Given the description of an element on the screen output the (x, y) to click on. 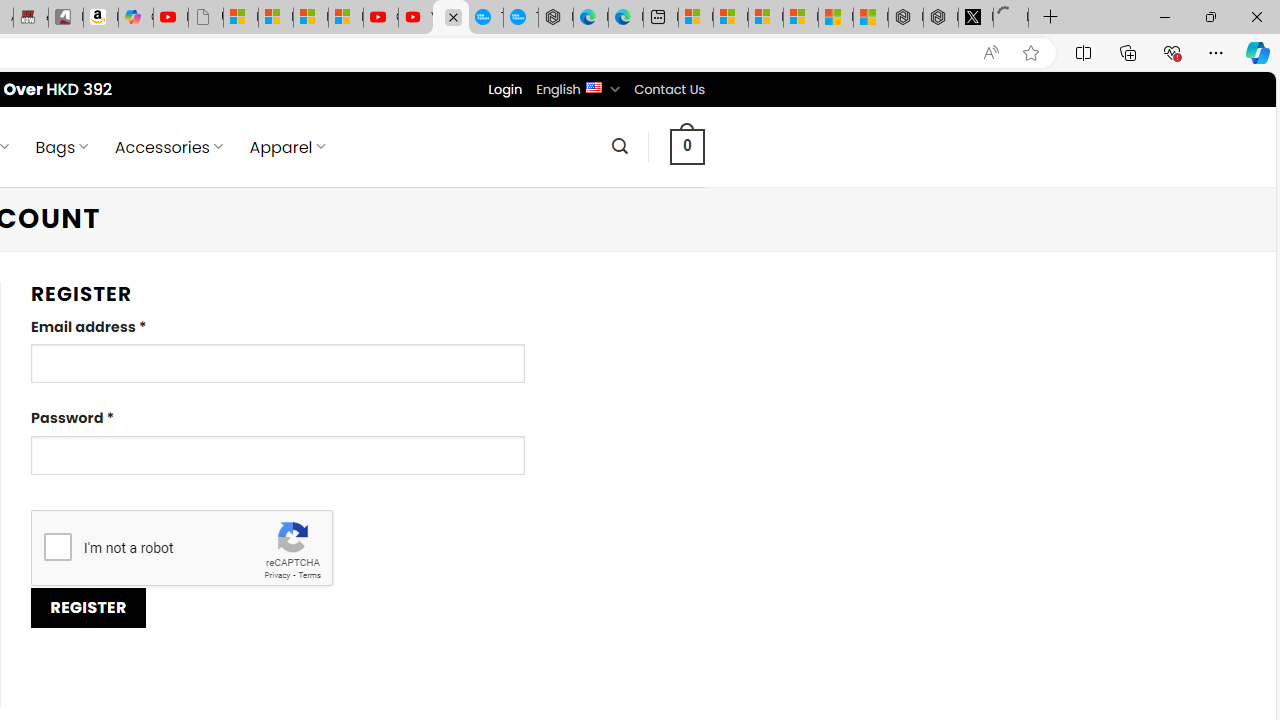
YouTube Kids - An App Created for Kids to Explore Content (415, 17)
REGISTER (88, 607)
